Given the description of an element on the screen output the (x, y) to click on. 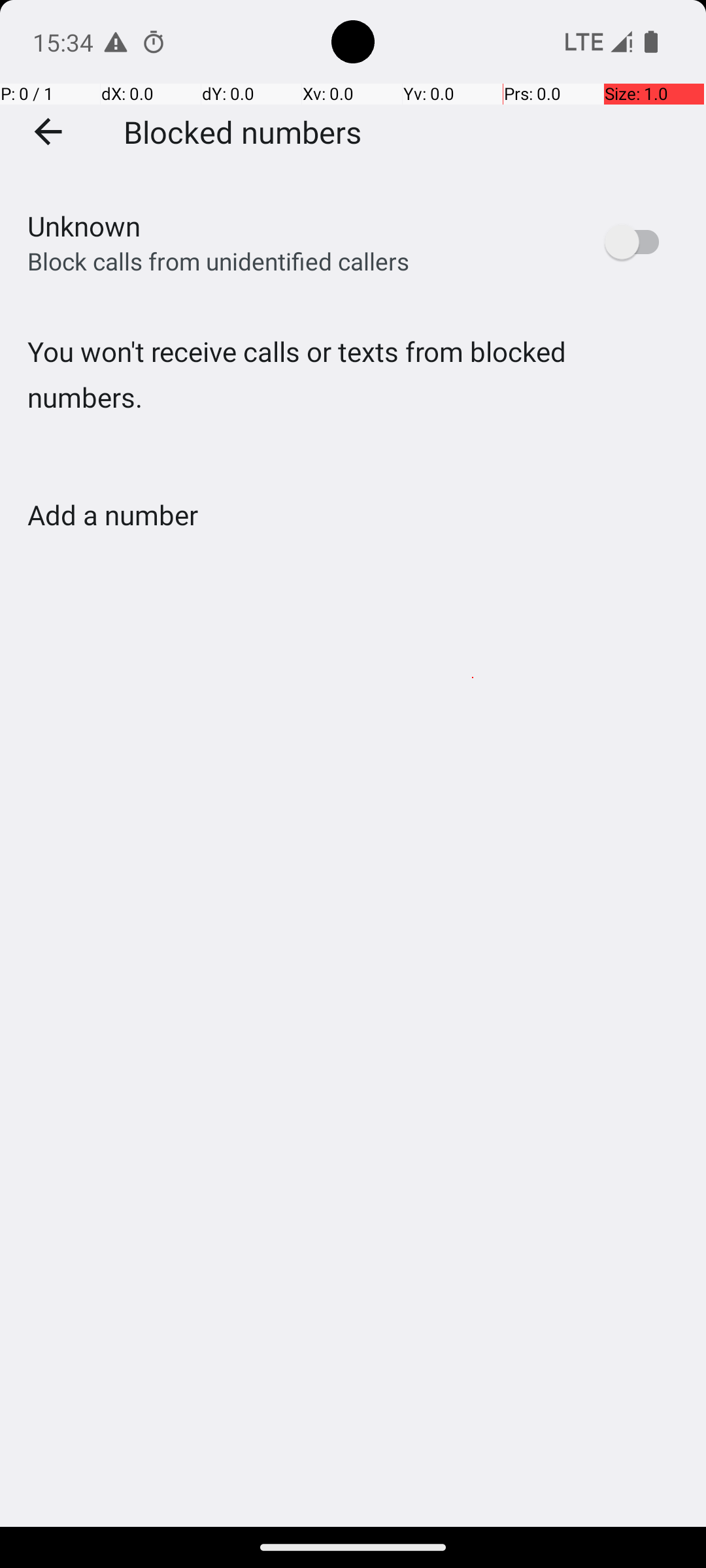
Blocked numbers Element type: android.widget.TextView (242, 131)
You won't receive calls or texts from blocked numbers. Element type: android.widget.TextView (352, 401)
Add a number Element type: android.widget.TextView (112, 514)
Unknown Element type: android.widget.TextView (83, 225)
Block calls from unidentified callers Element type: android.widget.TextView (218, 260)
